Given the description of an element on the screen output the (x, y) to click on. 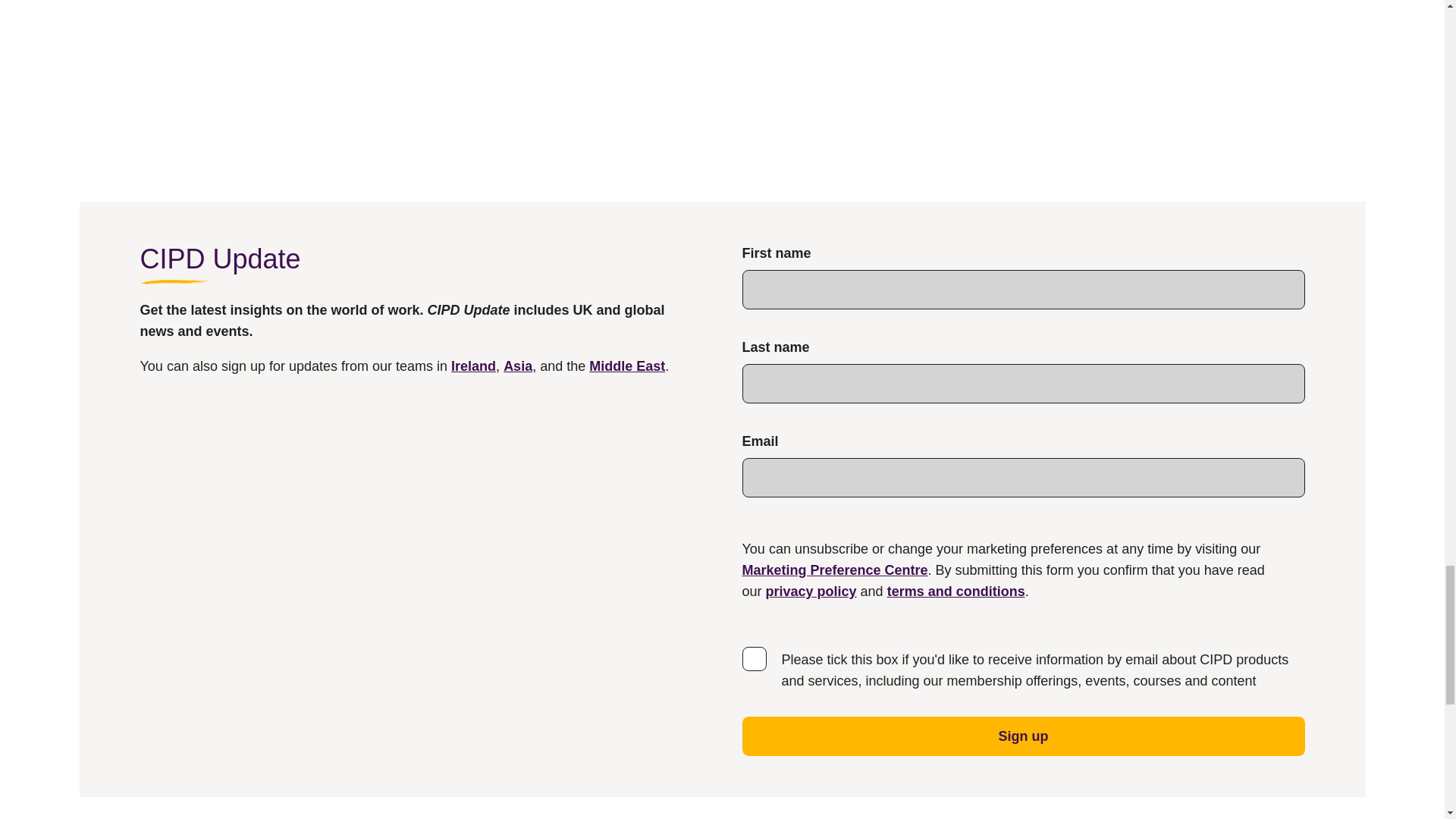
Consented (753, 658)
